Given the description of an element on the screen output the (x, y) to click on. 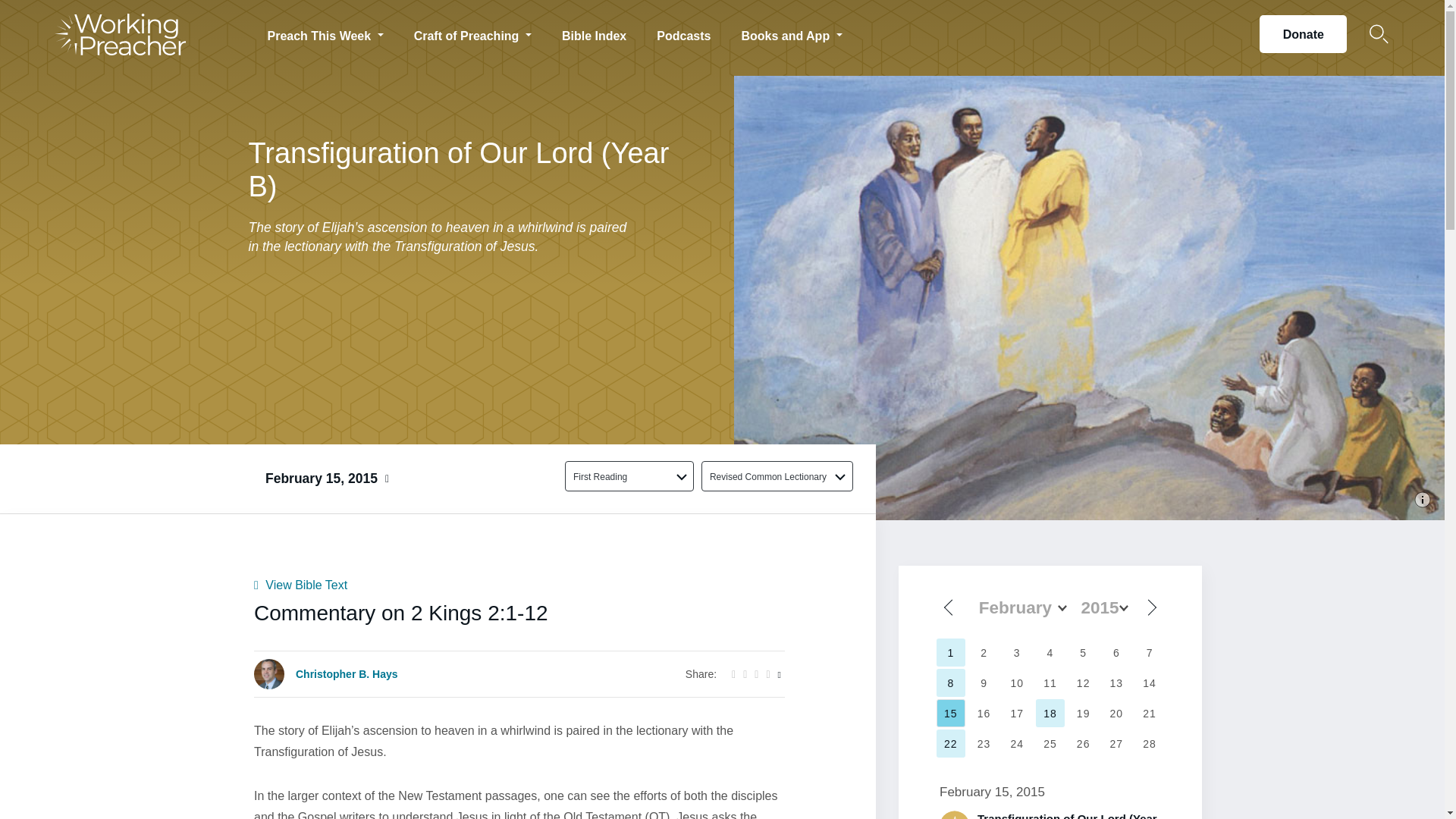
Books and App (791, 33)
Bible Index (594, 33)
Books and App (791, 33)
Craft of Preaching (472, 33)
Bible Index (594, 33)
Podcasts (683, 33)
Donate (1302, 34)
Podcasts (683, 33)
Preach This Week (324, 33)
Craft of Preaching (472, 33)
Preach This Week (324, 33)
